Given the description of an element on the screen output the (x, y) to click on. 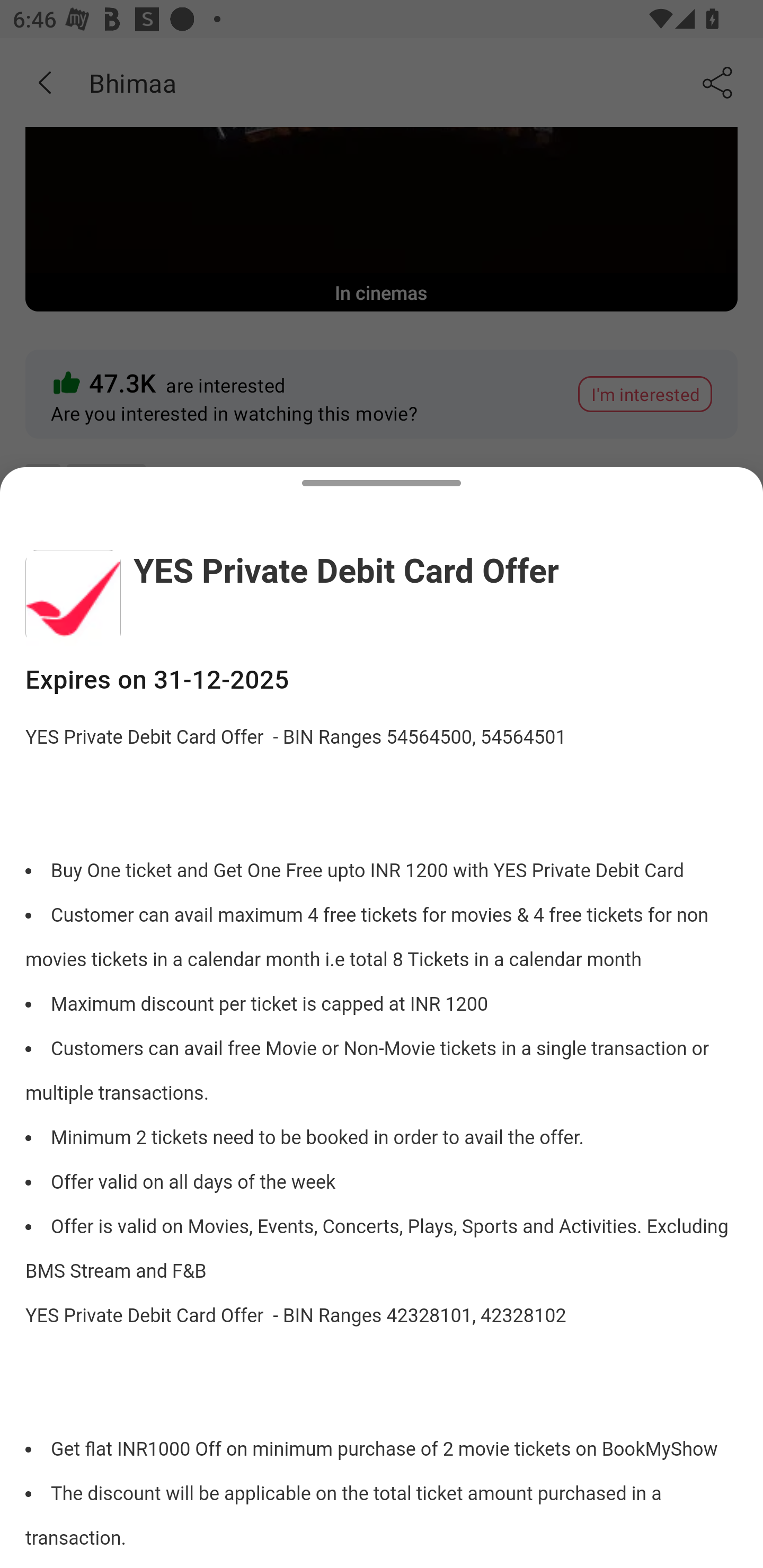
Expires on 31-12-2025 (381, 680)
